Given the description of an element on the screen output the (x, y) to click on. 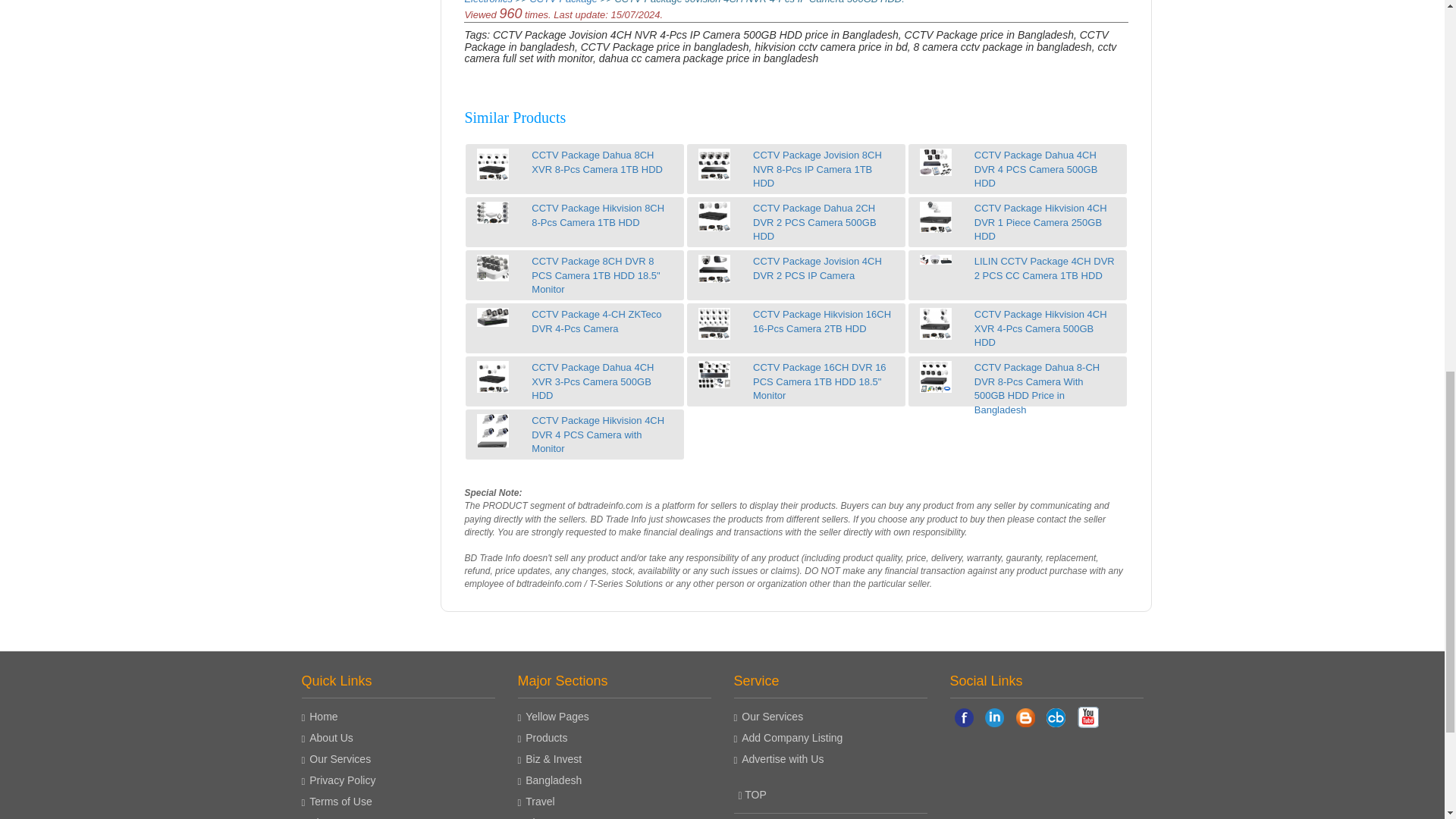
CCTV Package Hikvision 4CH DVR 4 PCS Camera with Monitor (492, 430)
CCTV Package Jovision 4CH DVR 2 PCS IP Camera (714, 268)
CCTV Package 16CH DVR 16 PCS Camera 1TB HDD 18.5" Monitor (714, 374)
CCTV Package Hikvision 16CH 16-Pcs Camera 2TB HDD (714, 323)
CCTV Package Dahua 4CH DVR 4 PCS Camera 500GB HDD (936, 162)
CCTV Package Jovision 8CH NVR 8-Pcs IP Camera 1TB HDD (714, 164)
CCTV Package Hikvision 8CH 8-Pcs Camera 1TB HDD (492, 212)
CCTV Package Dahua 2CH DVR 2 PCS Camera 500GB HDD (714, 215)
CCTV Package 8CH DVR 8 PCS Camera 1TB HDD 18.5" Monitor (492, 267)
LILIN CCTV Package 4CH DVR 2 PCS CC Camera 1TB HDD (936, 259)
CCTV Package 4-CH ZKTeco DVR 4-Pcs Camera (492, 316)
CCTV Package Hikvision 4CH XVR 4-Pcs Camera 500GB HDD (936, 323)
CCTV Package Hikvision 4CH DVR 1 Piece Camera 250GB HDD (936, 216)
CCTV Package Dahua 8CH XVR 8-Pcs Camera 1TB HDD (492, 164)
